Given the description of an element on the screen output the (x, y) to click on. 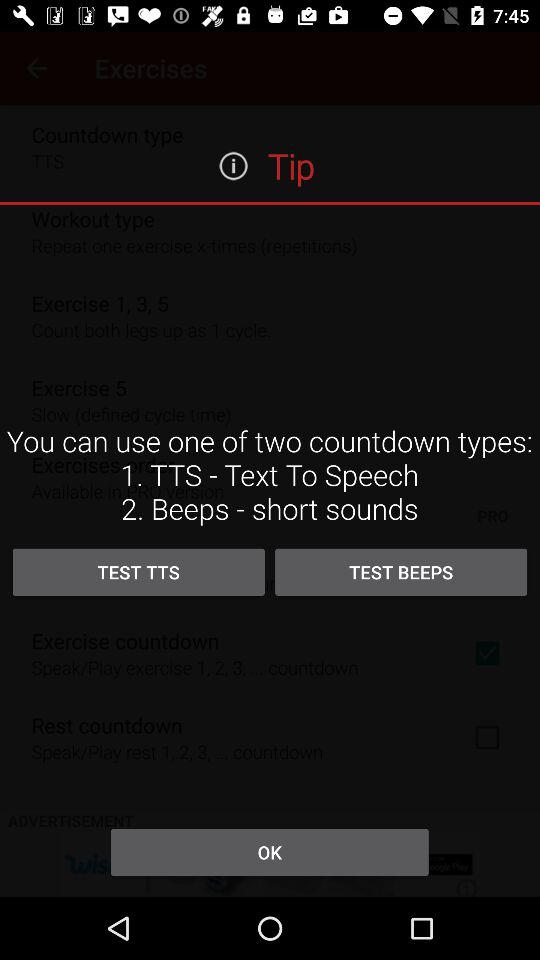
choose the test tts on the left (138, 571)
